Given the description of an element on the screen output the (x, y) to click on. 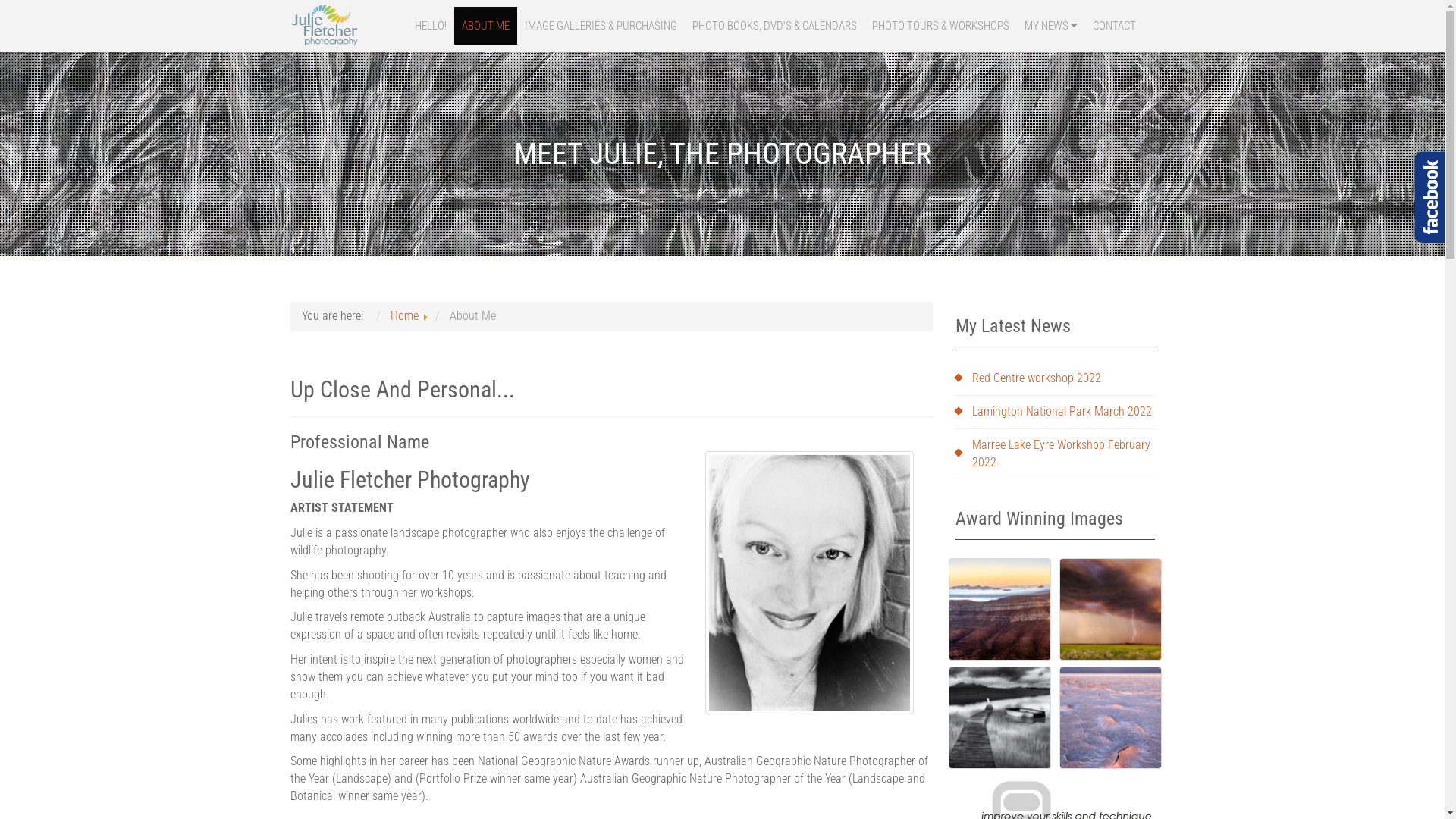
PHOTO BOOKS, DVD'S & CALENDARS Element type: text (773, 25)
Home Element type: text (403, 315)
Julie Fletcher Element type: hover (809, 582)
Marree Lake Eyre Workshop February 2022 Element type: text (1054, 454)
PHOTO TOURS & WORKSHOPS Element type: text (940, 25)
IMAGE GALLERIES & PURCHASING Element type: text (600, 25)
HELLO! Element type: text (429, 25)
Lamington National Park March 2022 Element type: text (1054, 411)
Red Centre workshop 2022 Element type: text (1054, 378)
ABOUT ME Element type: text (484, 25)
CONTACT Element type: text (1113, 25)
MY NEWS Element type: text (1050, 25)
